Given the description of an element on the screen output the (x, y) to click on. 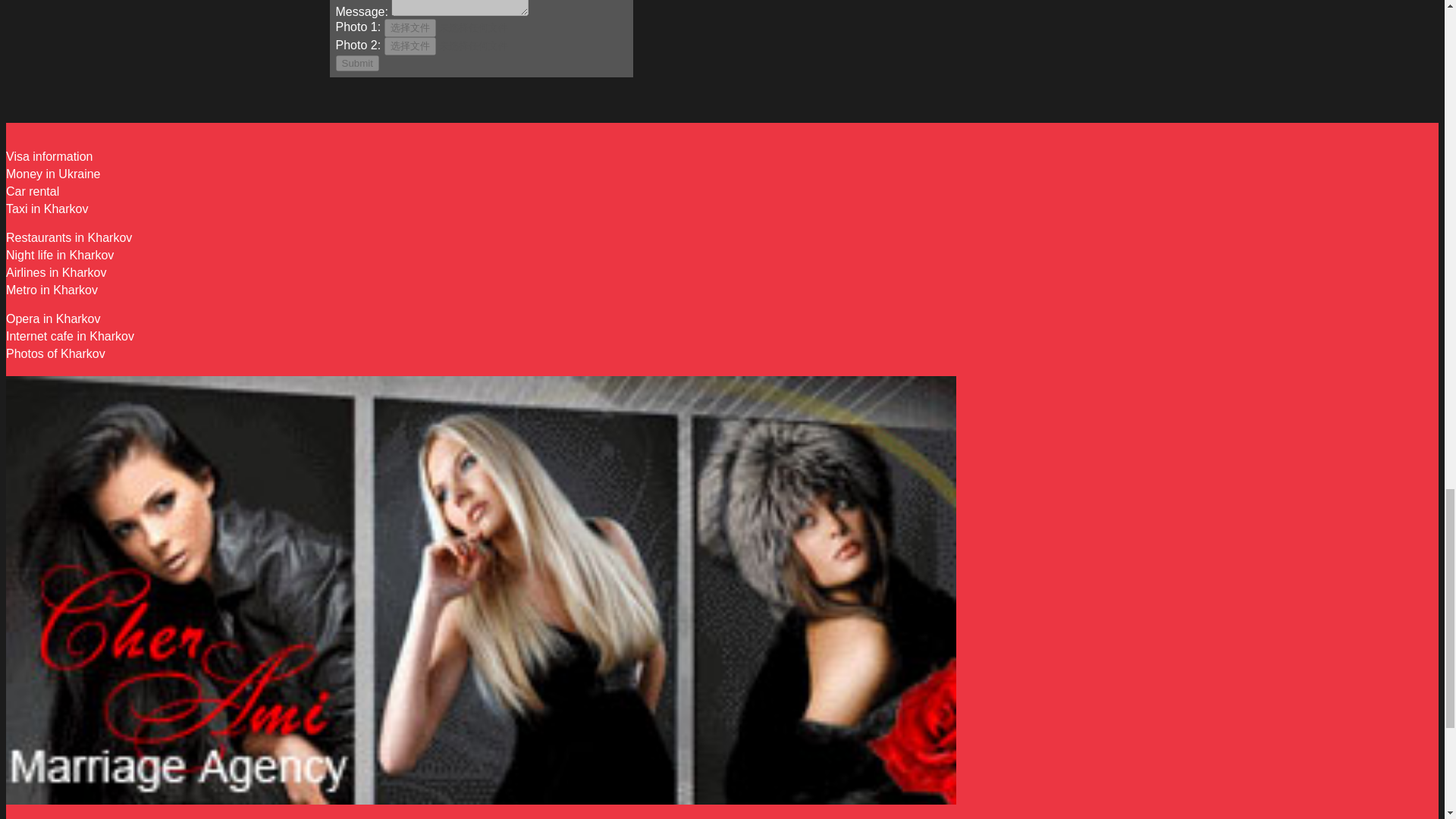
Submit (356, 63)
